Given the description of an element on the screen output the (x, y) to click on. 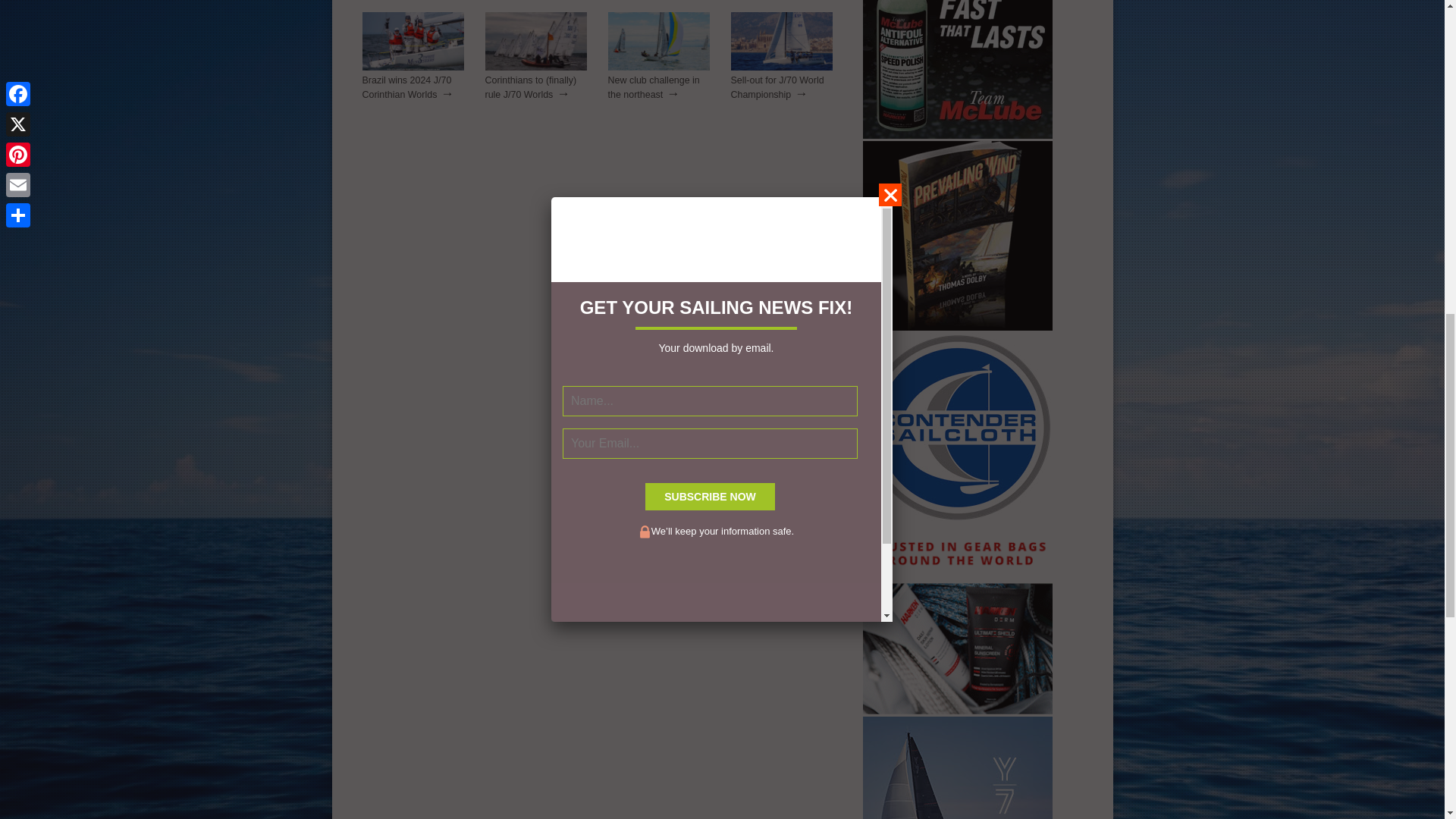
New club challenge in the northeast (659, 67)
New club challenge in the northeast (654, 87)
